Given the description of an element on the screen output the (x, y) to click on. 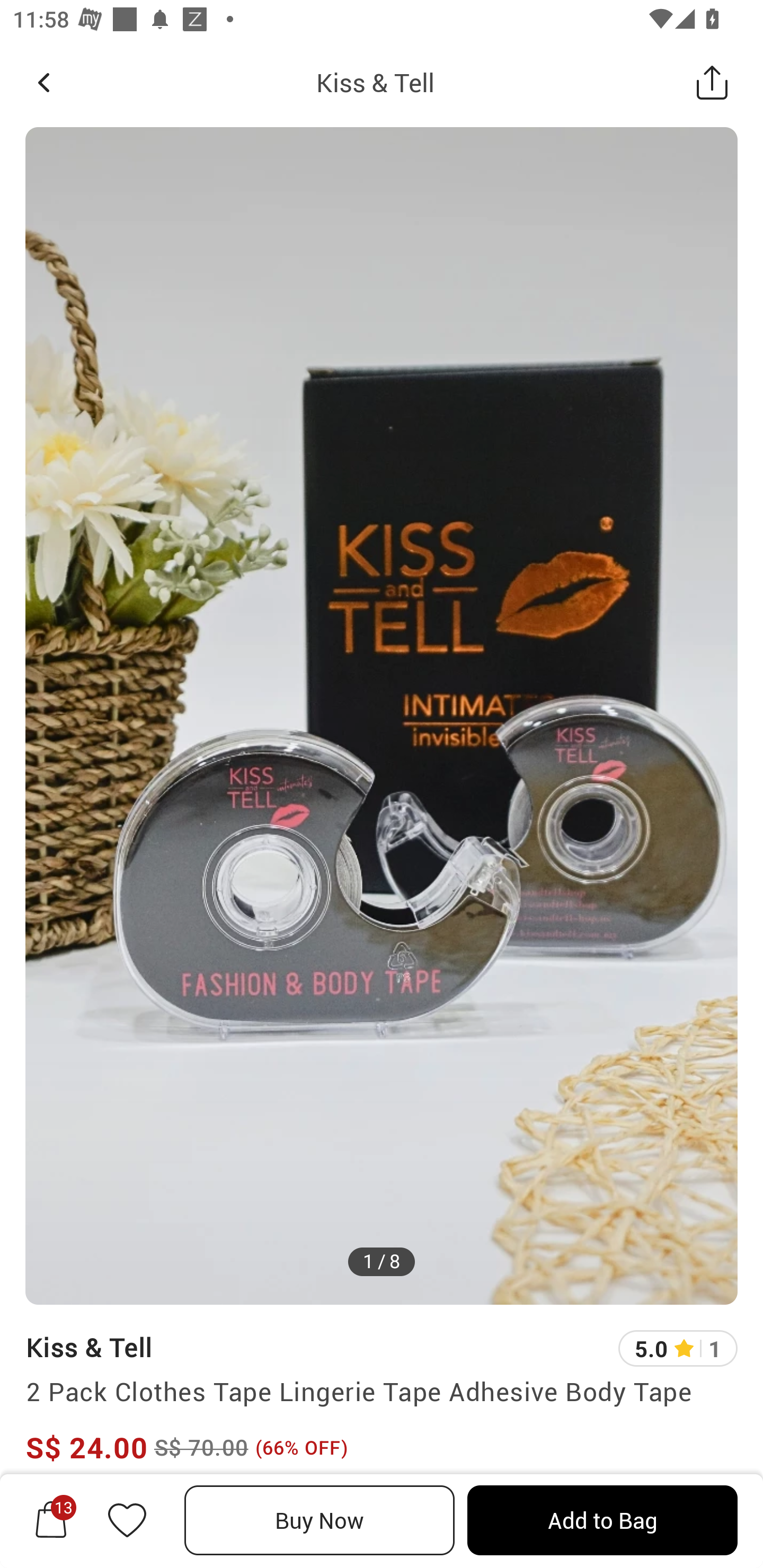
Kiss & Tell (375, 82)
Share this Product (711, 82)
Kiss & Tell (88, 1346)
5.0 1 (677, 1348)
Buy Now (319, 1519)
Add to Bag (601, 1519)
13 (50, 1520)
